Given the description of an element on the screen output the (x, y) to click on. 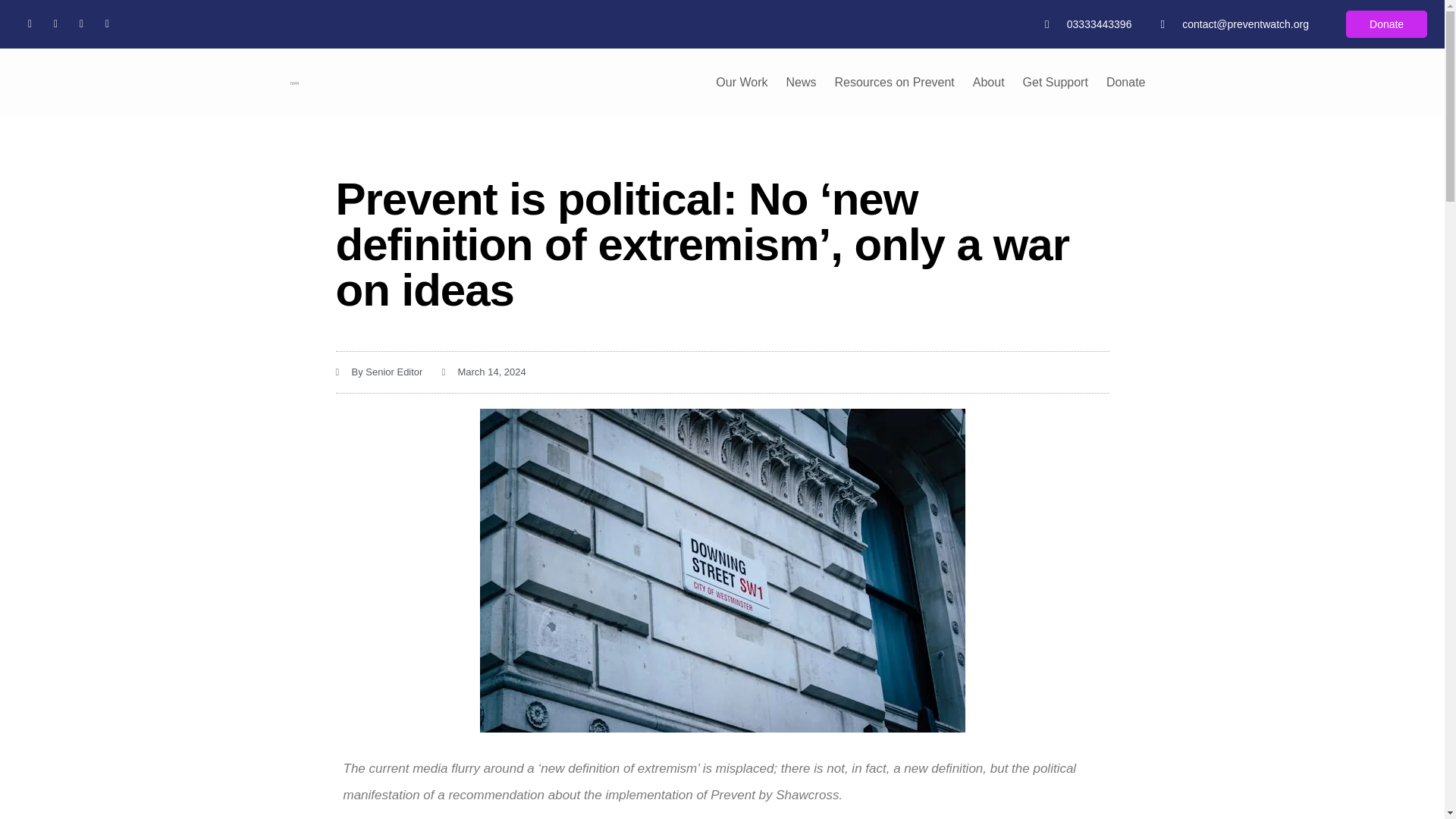
About (988, 82)
Donate (1386, 23)
03333443396 (1088, 24)
Get Support (1055, 82)
Donate (1125, 82)
Our Work (741, 82)
News (800, 82)
Resources on Prevent (893, 82)
